Given the description of an element on the screen output the (x, y) to click on. 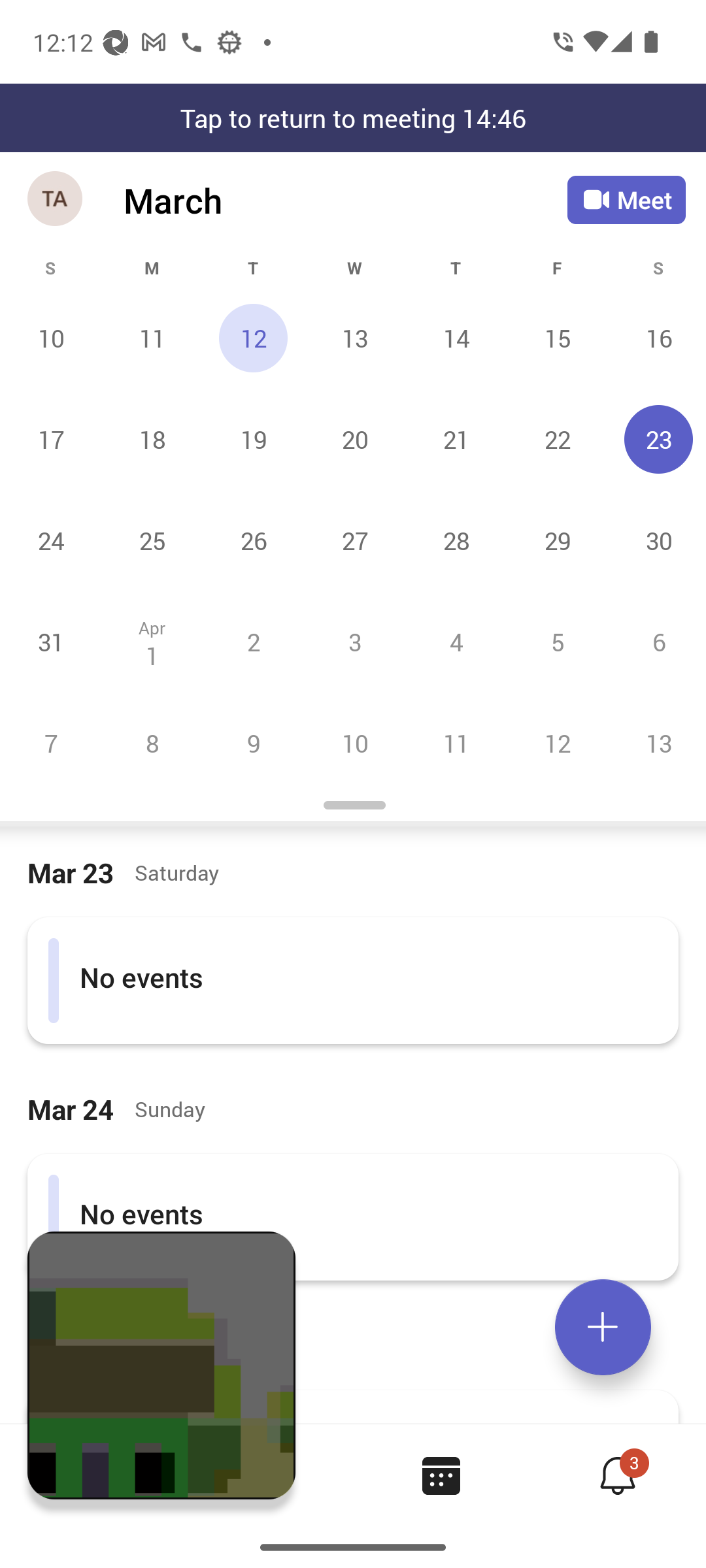
Tap to return to meeting 14:46 (353, 117)
Navigation (56, 199)
Meet Meet now or join with an ID (626, 199)
March March Calendar Agenda View (345, 199)
Sunday, March 10 10 (50, 337)
Monday, March 11 11 (151, 337)
Tuesday, March 12, Today 12 (253, 337)
Wednesday, March 13 13 (354, 337)
Thursday, March 14 14 (455, 337)
Friday, March 15 15 (556, 337)
Saturday, March 16 16 (656, 337)
Sunday, March 17 17 (50, 438)
Monday, March 18 18 (151, 438)
Tuesday, March 19 19 (253, 438)
Wednesday, March 20 20 (354, 438)
Thursday, March 21 21 (455, 438)
Friday, March 22 22 (556, 438)
Saturday, March 23, Selected 23 (656, 438)
Sunday, March 24 24 (50, 540)
Monday, March 25 25 (151, 540)
Tuesday, March 26 26 (253, 540)
Wednesday, March 27 27 (354, 540)
Thursday, March 28 28 (455, 540)
Friday, March 29 29 (556, 540)
Saturday, March 30 30 (656, 540)
Sunday, March 31 31 (50, 642)
Monday, April 1 Apr 1 (151, 642)
Tuesday, April 2 2 (253, 642)
Wednesday, April 3 3 (354, 642)
Thursday, April 4 4 (455, 642)
Friday, April 5 5 (556, 642)
Saturday, April 6 6 (656, 642)
Sunday, April 7 7 (50, 743)
Monday, April 8 8 (151, 743)
Tuesday, April 9 9 (253, 743)
Wednesday, April 10 10 (354, 743)
Thursday, April 11 11 (455, 743)
Friday, April 12 12 (556, 743)
Saturday, April 13 13 (656, 743)
Expand meetings menu (602, 1327)
Calendar tab, 3 of 4 (441, 1475)
Activity tab,4 of 4, not selected, 3 new 3 (617, 1475)
